Given the description of an element on the screen output the (x, y) to click on. 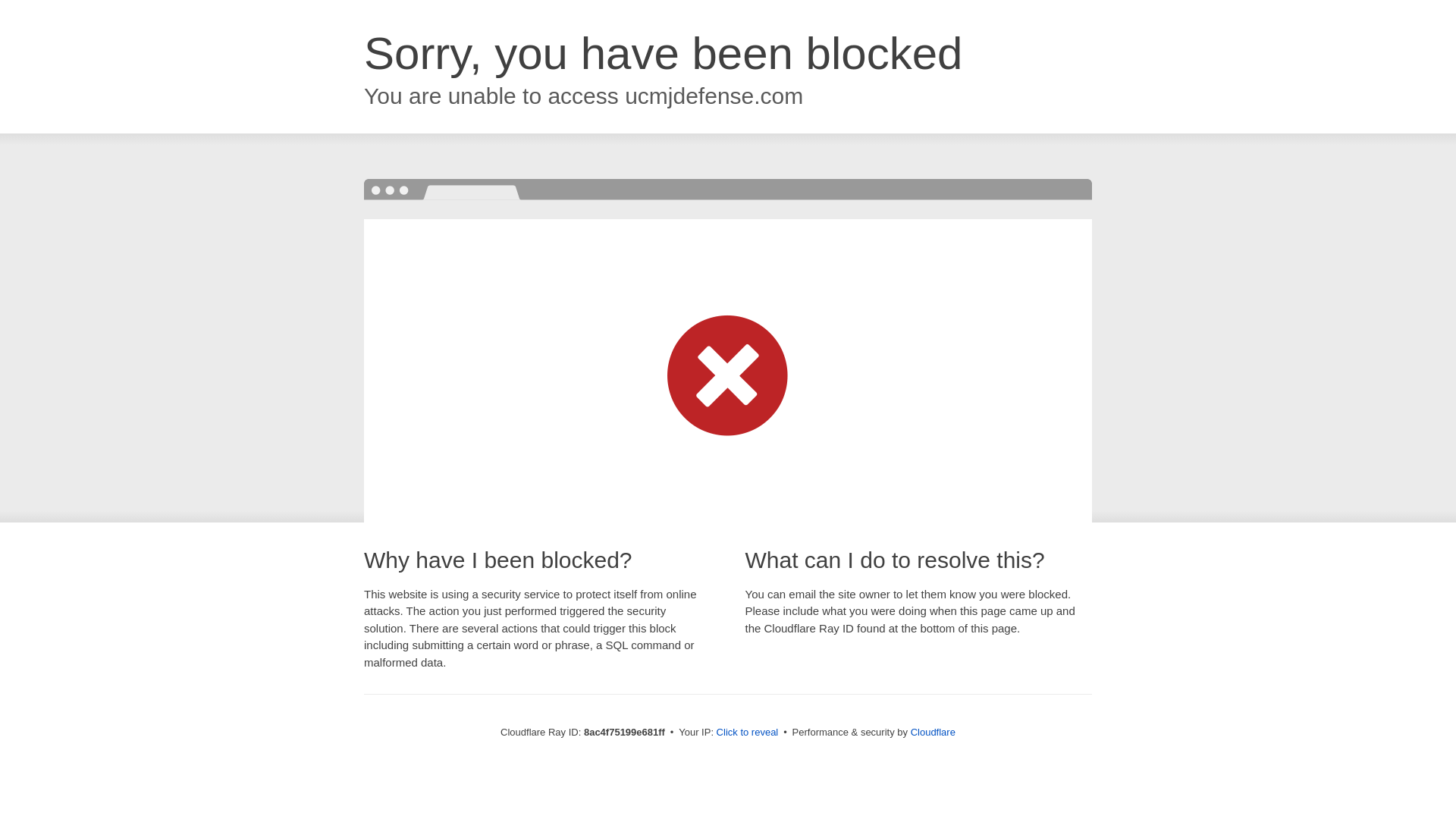
Cloudflare (933, 731)
Click to reveal (747, 732)
